Given the description of an element on the screen output the (x, y) to click on. 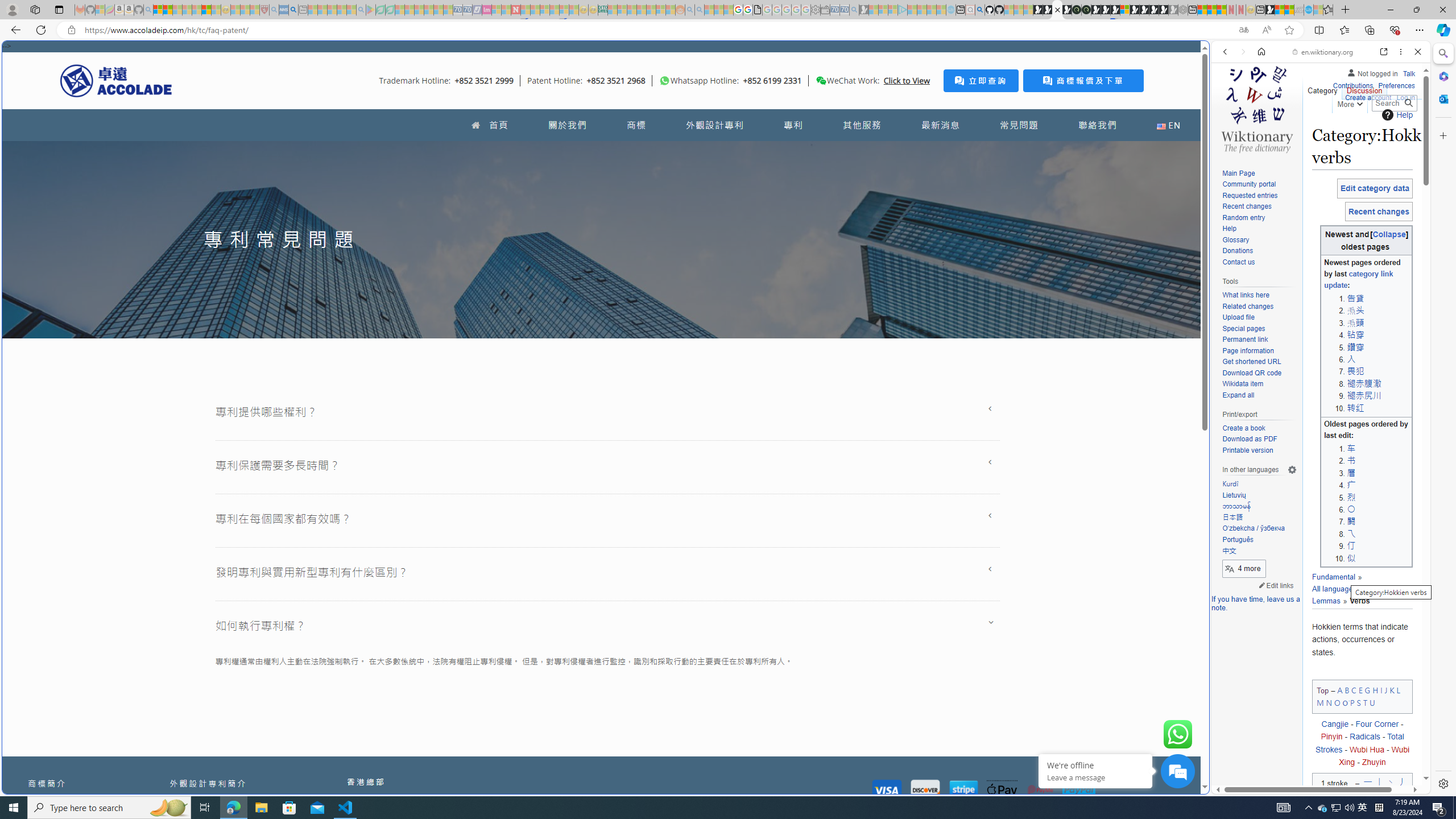
More (1349, 101)
Create account (1367, 98)
Page information (1259, 351)
Wikidata item (1259, 383)
Fundamental (1333, 576)
